Given the description of an element on the screen output the (x, y) to click on. 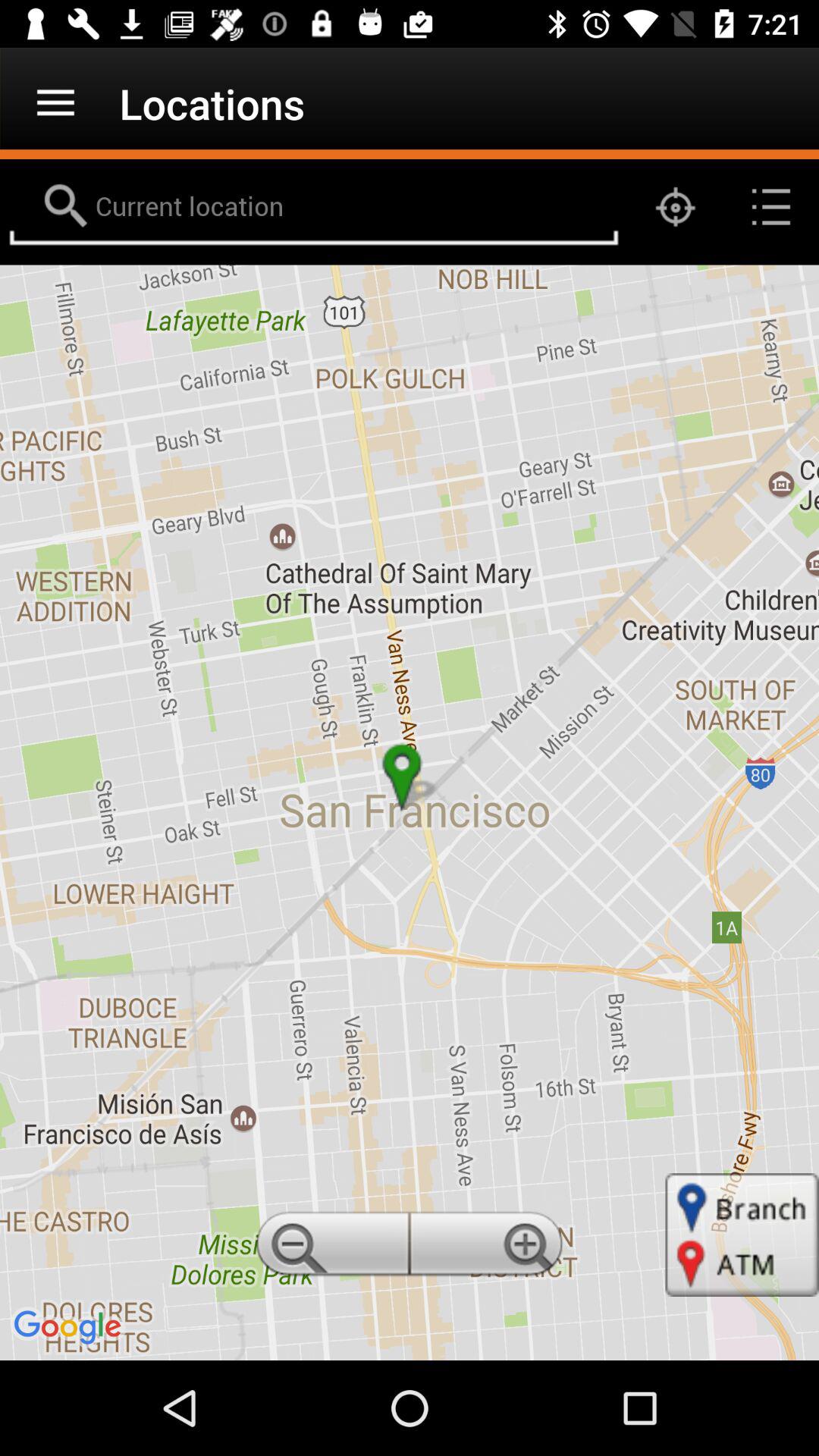
zoom out (329, 1248)
